Given the description of an element on the screen output the (x, y) to click on. 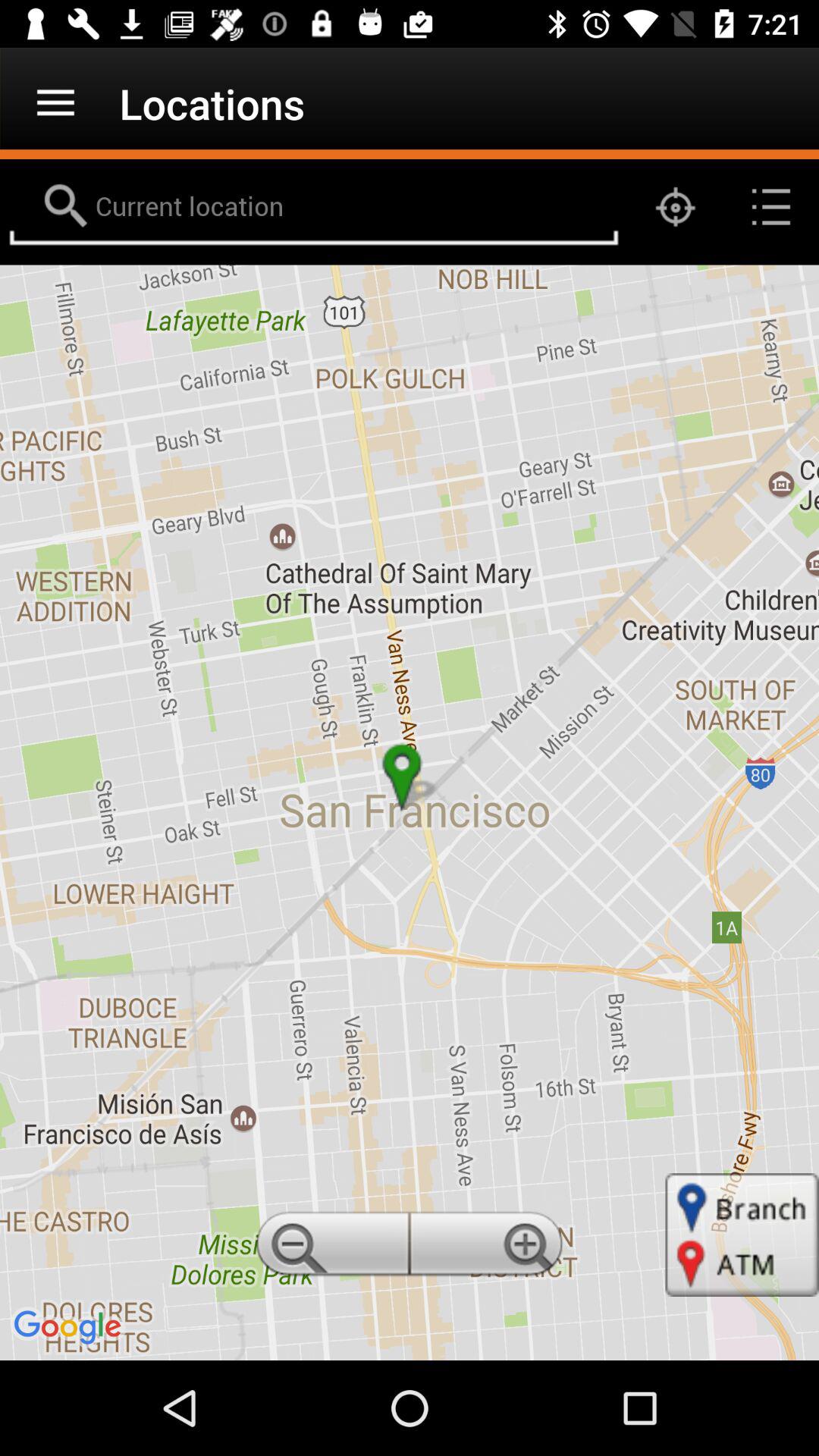
zoom out (329, 1248)
